Given the description of an element on the screen output the (x, y) to click on. 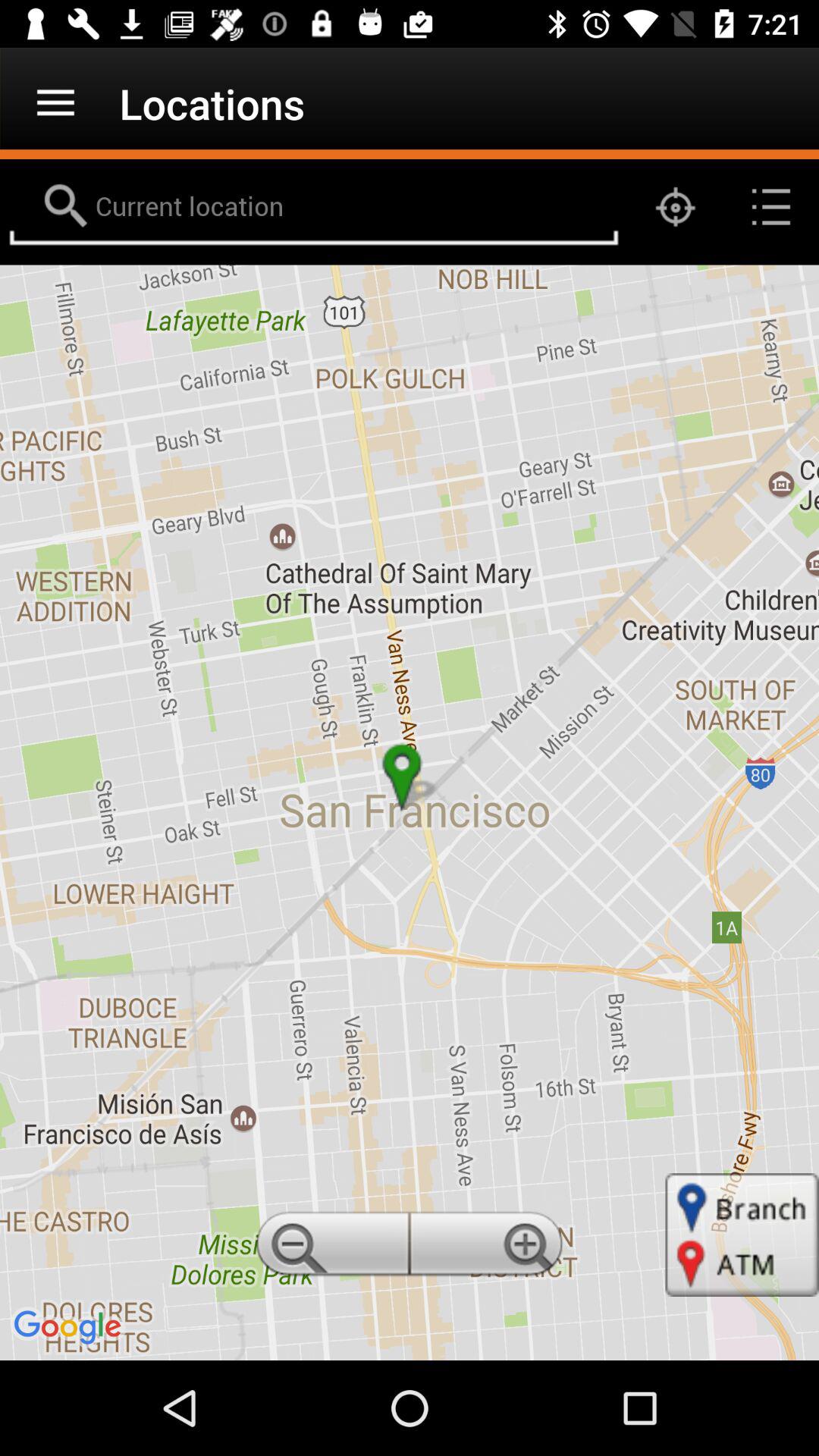
zoom out (329, 1248)
